Given the description of an element on the screen output the (x, y) to click on. 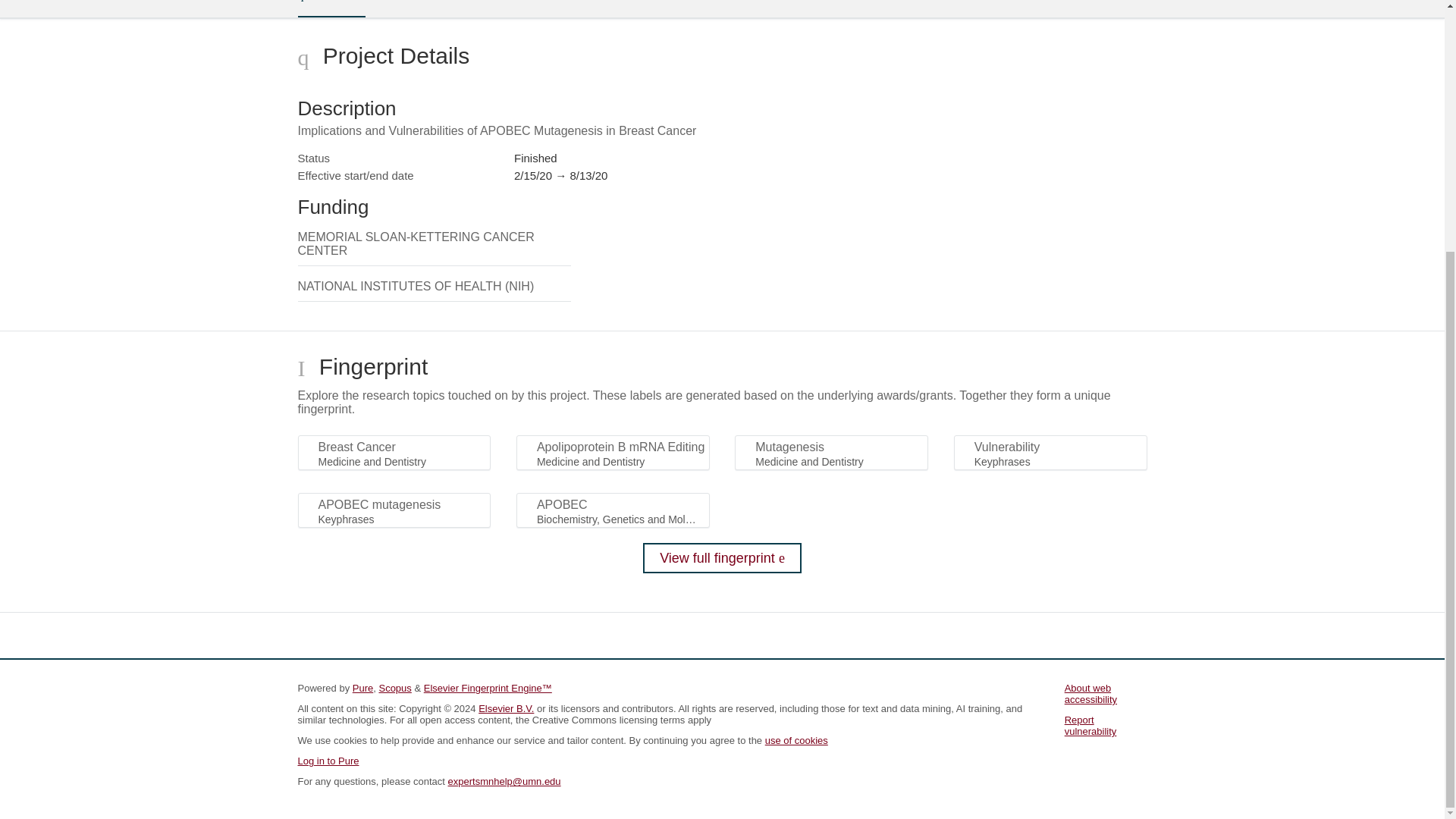
Pure (362, 687)
Scopus (394, 687)
View full fingerprint (722, 557)
Overview (331, 8)
use of cookies (796, 740)
About web accessibility (1090, 693)
Fingerprint (419, 7)
Log in to Pure (327, 760)
Report vulnerability (1090, 725)
Elsevier B.V. (506, 708)
